Given the description of an element on the screen output the (x, y) to click on. 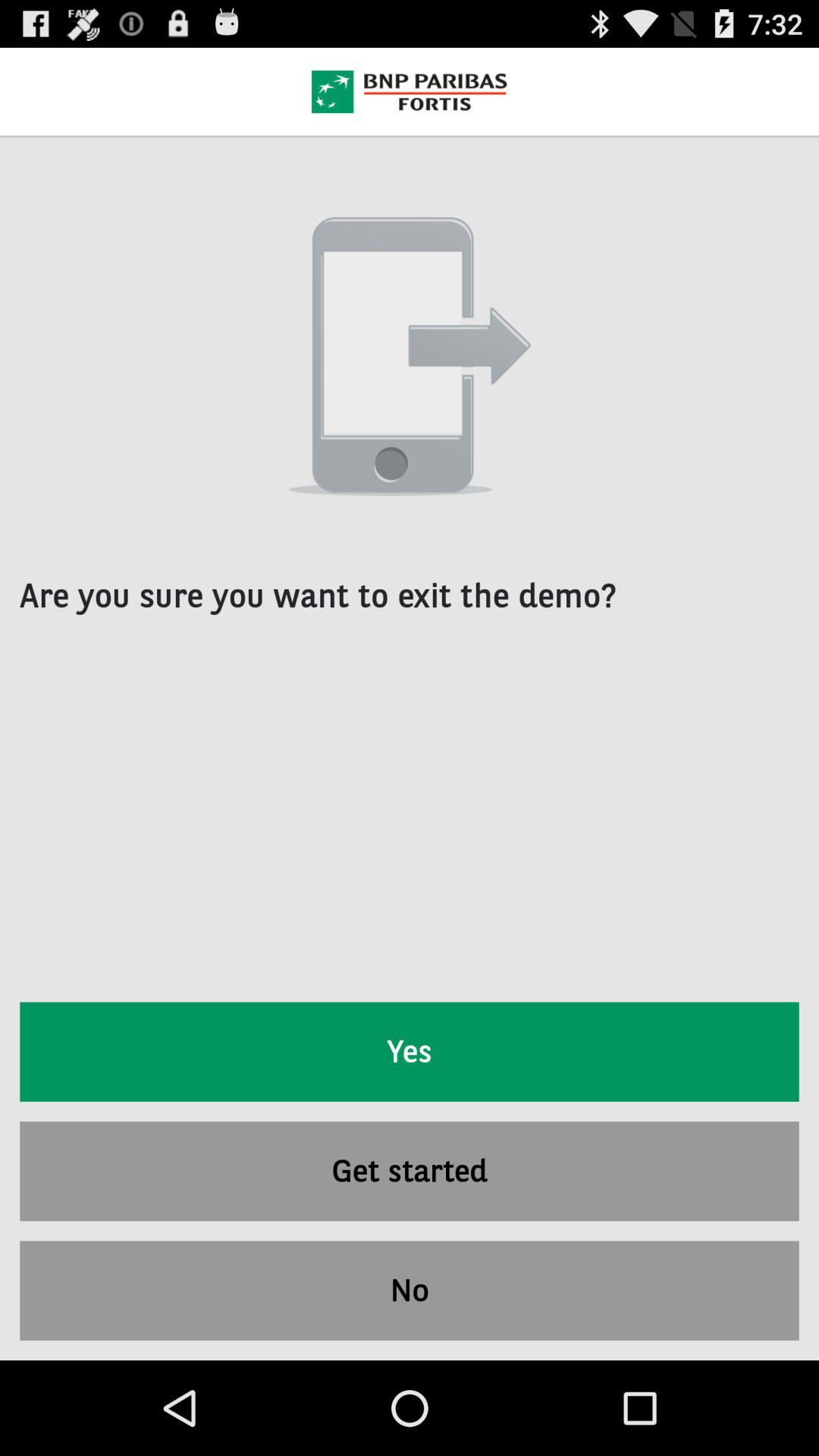
choose no (409, 1290)
